Given the description of an element on the screen output the (x, y) to click on. 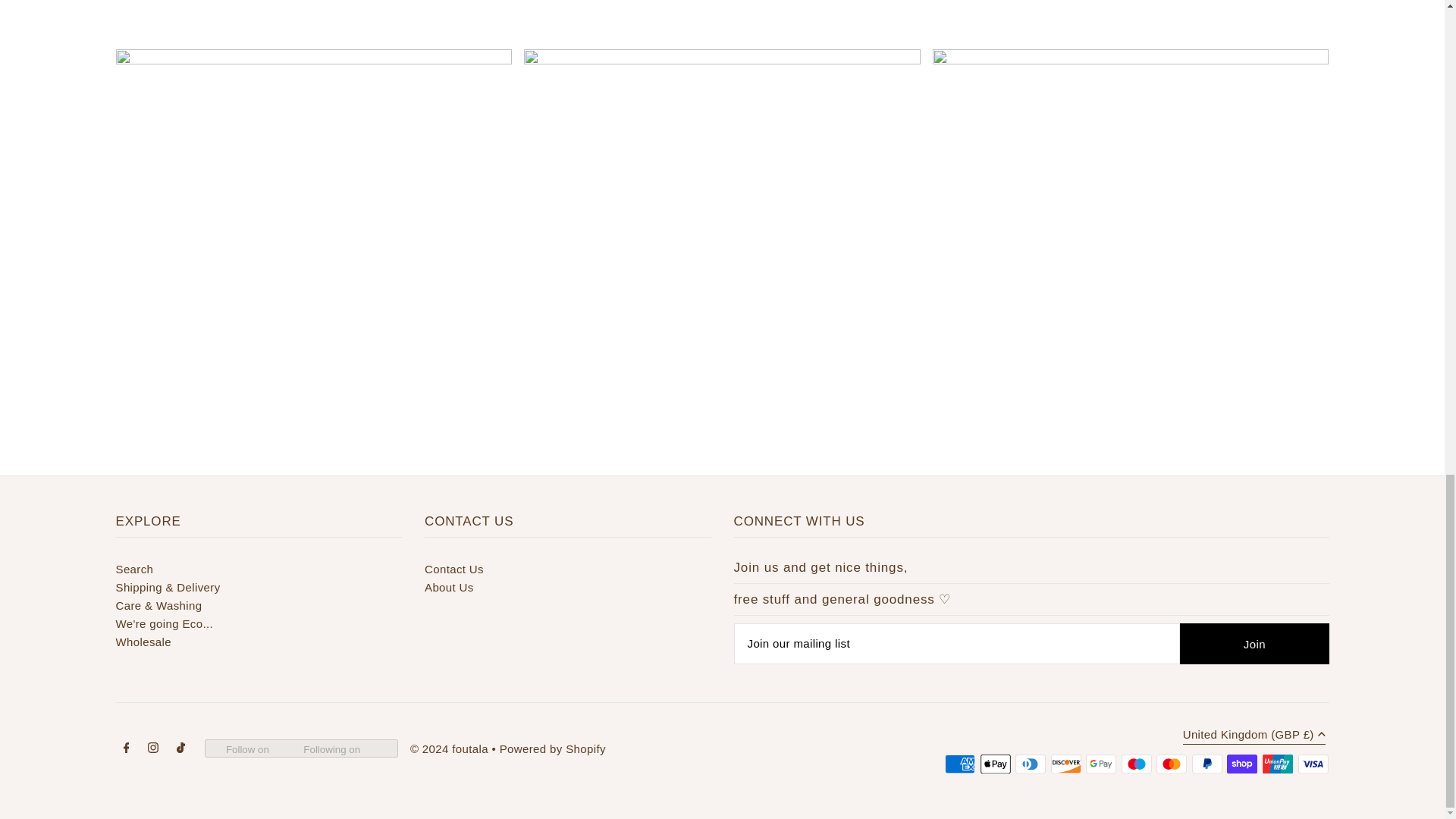
Shop Pay (1242, 763)
Discover (1066, 763)
American Express (959, 763)
Google Pay (1101, 763)
Diners Club (1029, 763)
Mastercard (1171, 763)
Apple Pay (994, 763)
Join (1253, 643)
PayPal (1207, 763)
Maestro (1136, 763)
